Given the description of an element on the screen output the (x, y) to click on. 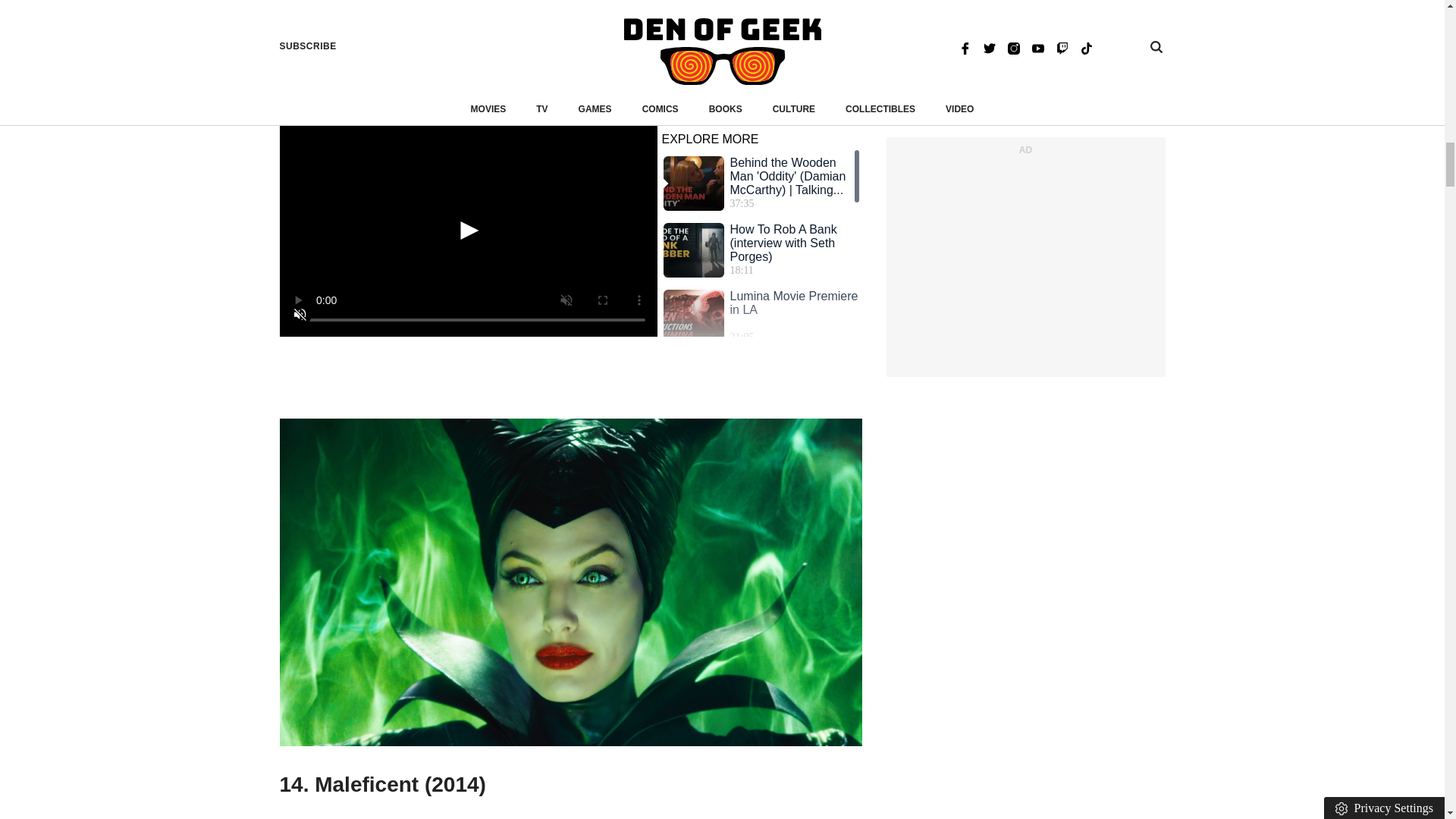
50 (467, 340)
